Given the description of an element on the screen output the (x, y) to click on. 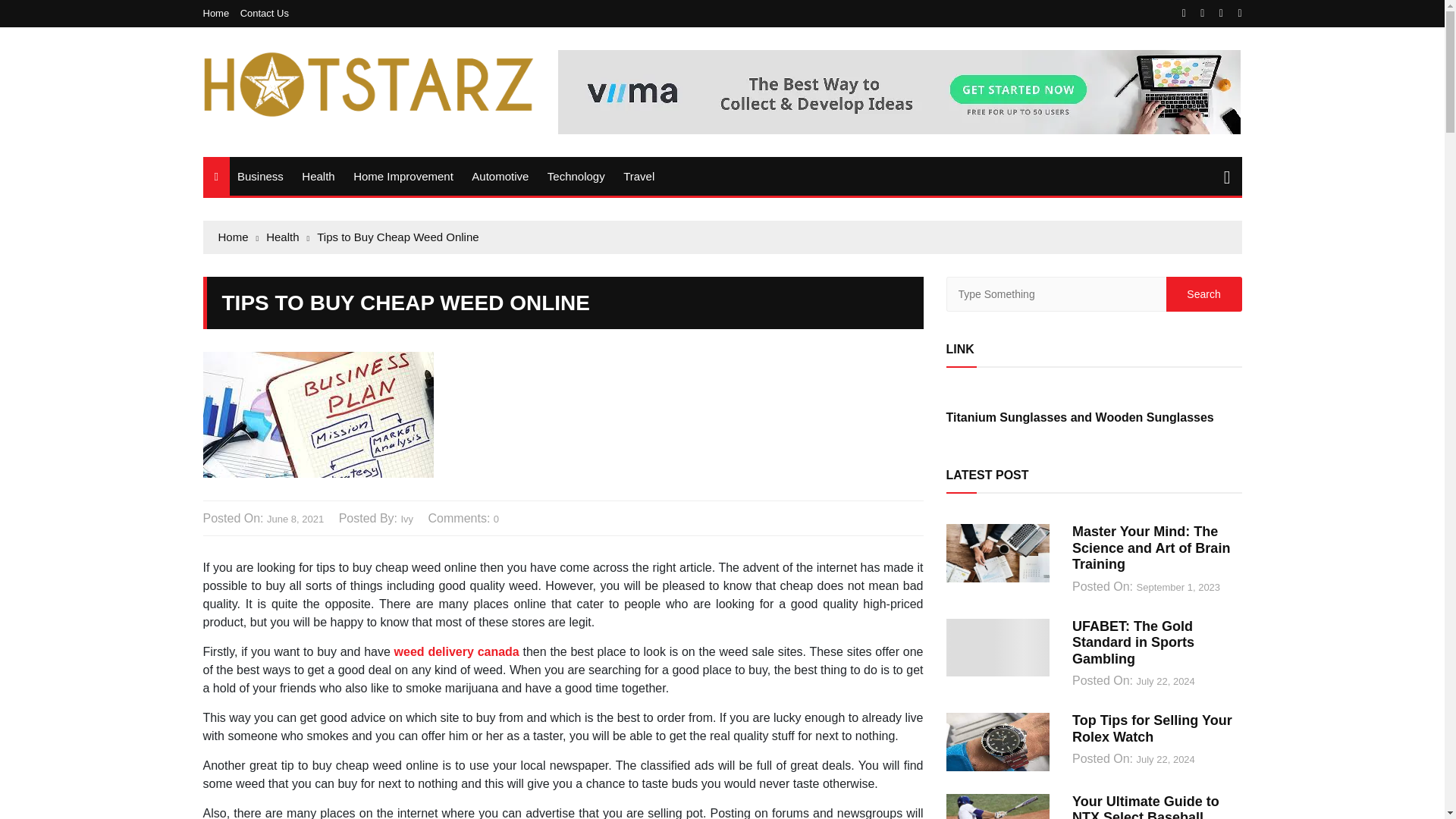
Contact Us (264, 13)
Health (318, 176)
Automotive (499, 176)
Search (1203, 294)
Home (220, 13)
Business (260, 176)
Technology (576, 176)
Travel (638, 176)
Home Improvement (403, 176)
